Given the description of an element on the screen output the (x, y) to click on. 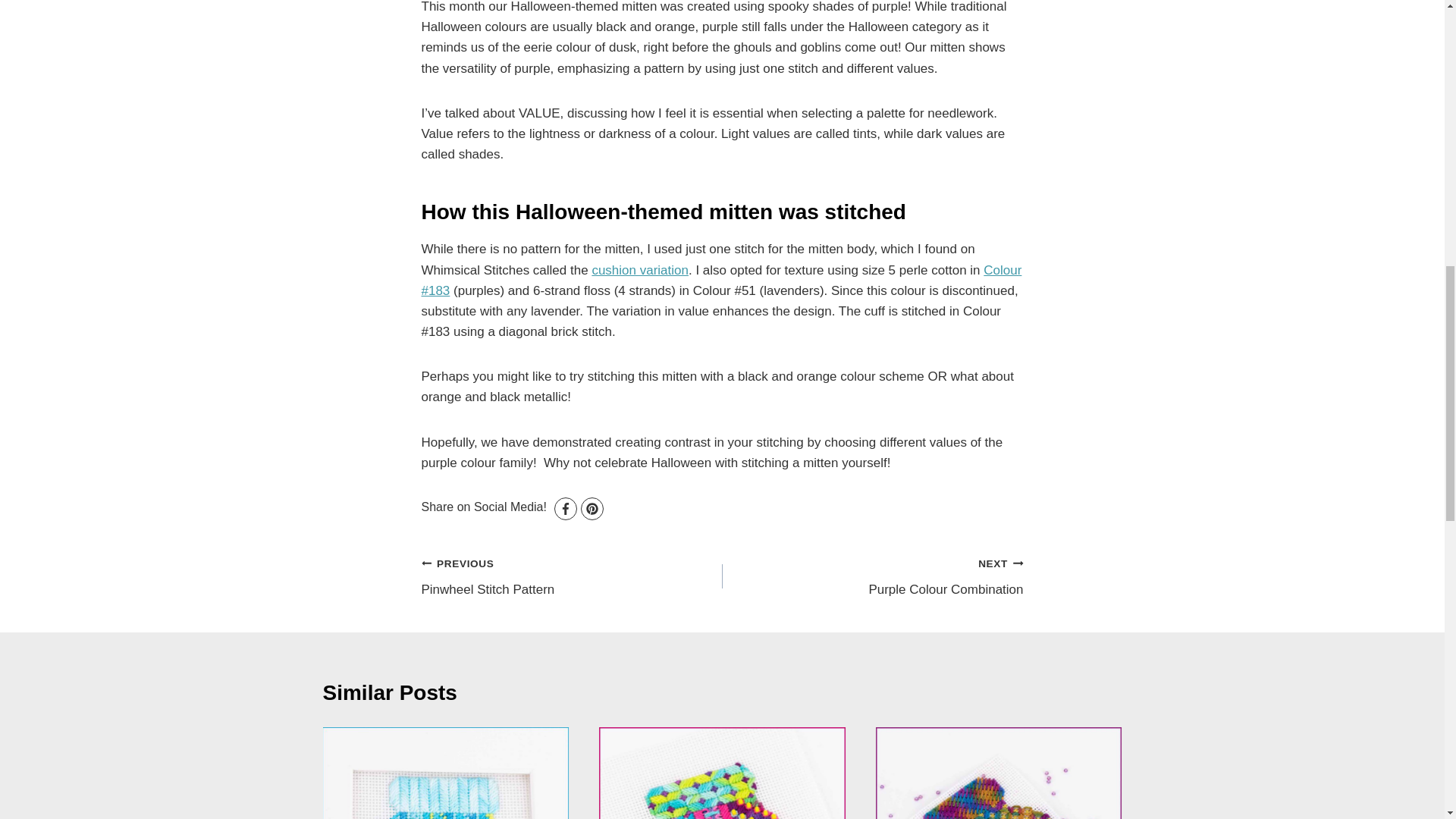
cushion variation (872, 575)
